Given the description of an element on the screen output the (x, y) to click on. 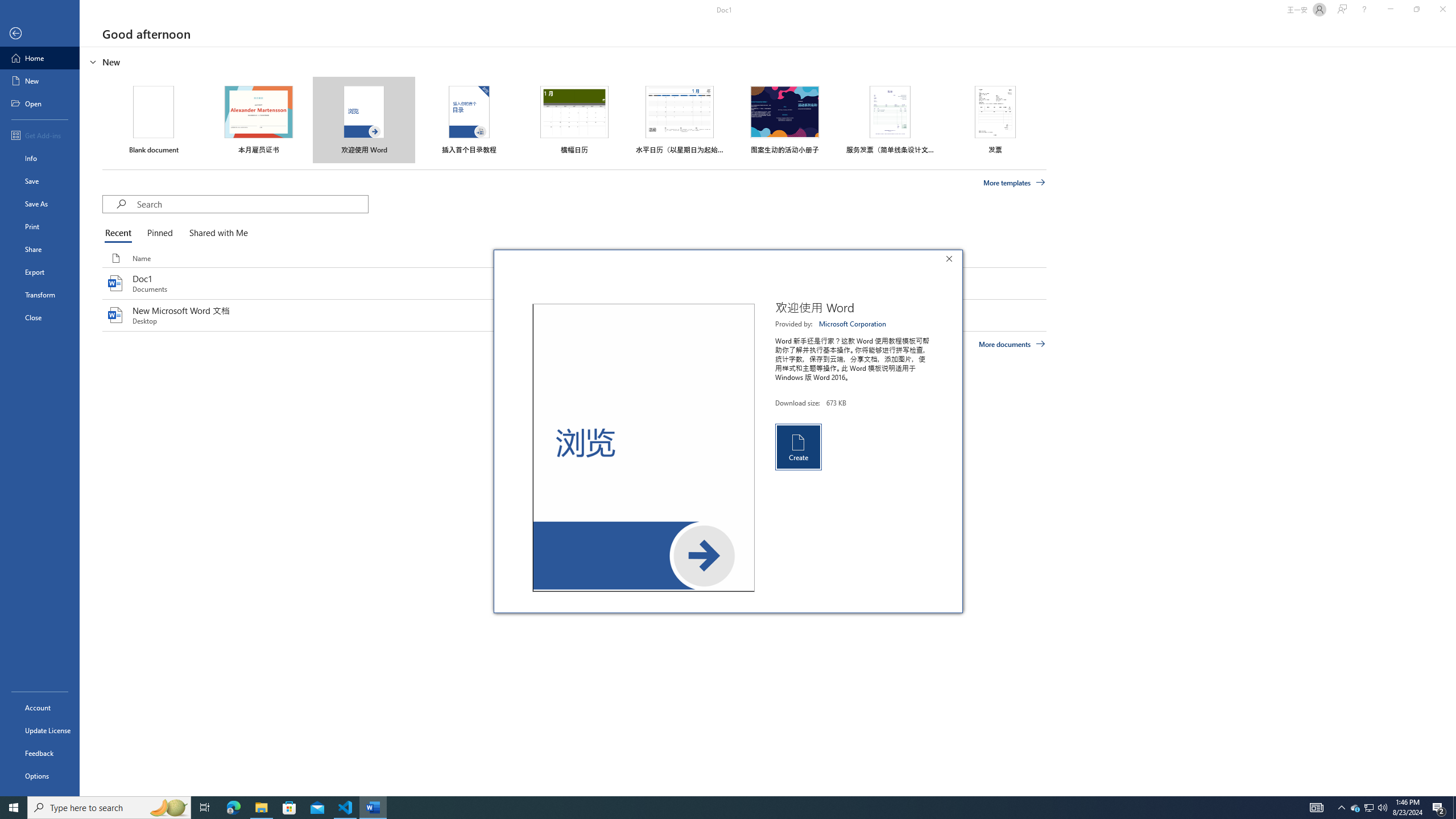
Account (40, 707)
Word - 1 running window (373, 807)
Type here to search (108, 807)
